Given the description of an element on the screen output the (x, y) to click on. 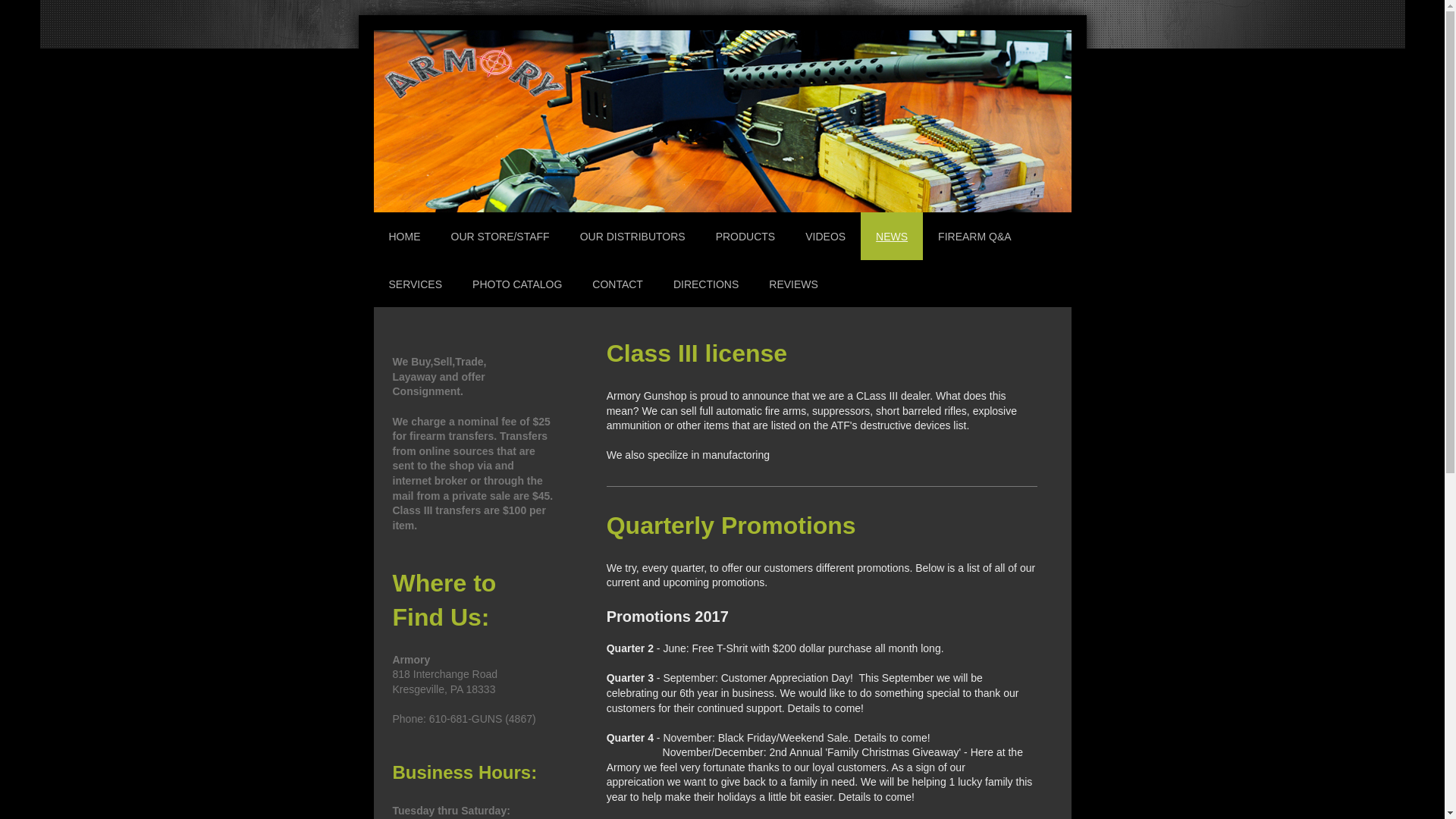
OUR DISTRIBUTORS (632, 236)
CONTACT (617, 283)
HOME (403, 236)
SERVICES (414, 283)
DIRECTIONS (706, 283)
NEWS (891, 236)
REVIEWS (793, 283)
VIDEOS (825, 236)
PRODUCTS (745, 236)
PHOTO CATALOG (516, 283)
